Given the description of an element on the screen output the (x, y) to click on. 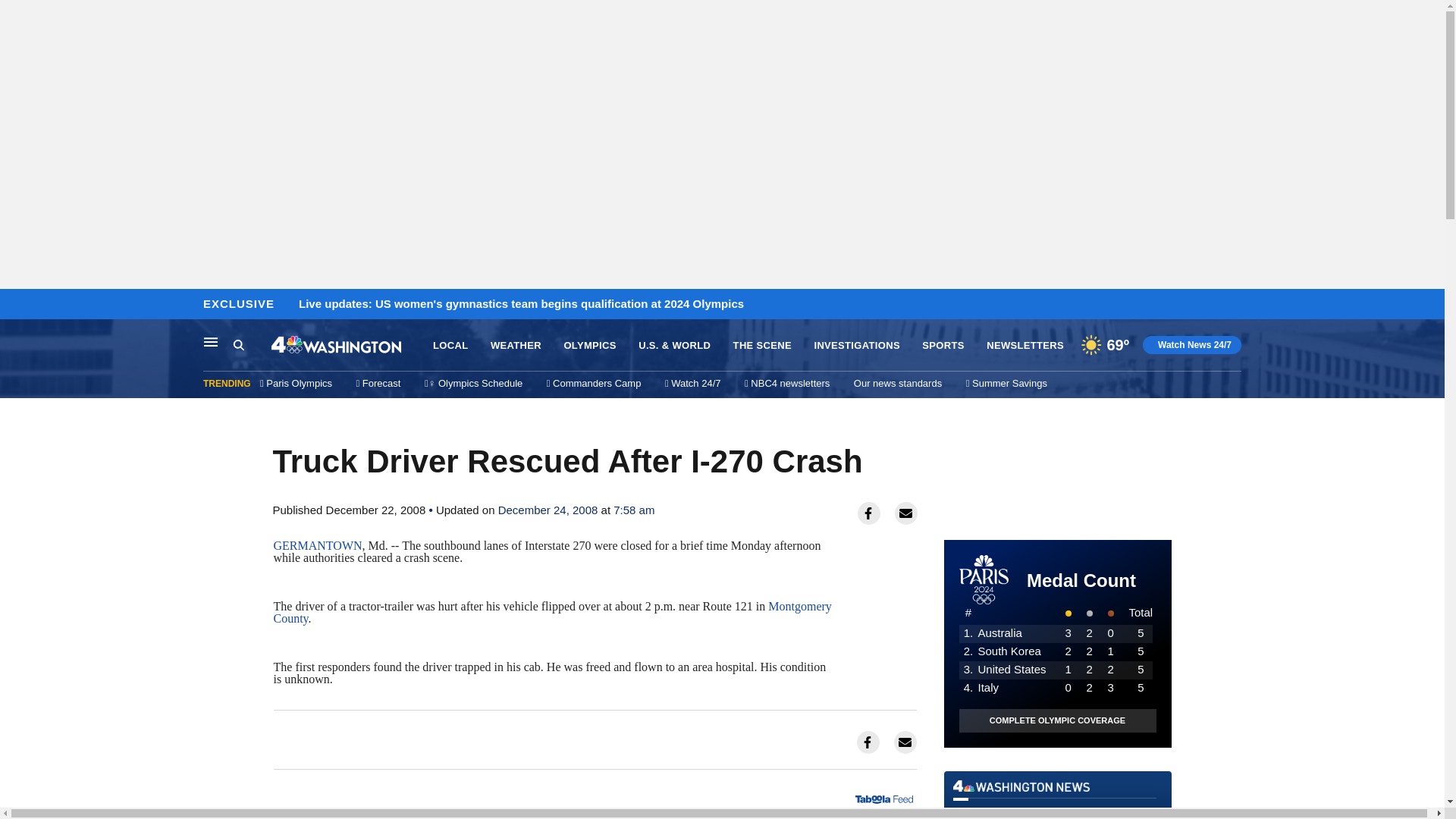
OLYMPICS (589, 345)
WEATHER (515, 345)
Montgomery County (552, 611)
Skip to content (16, 304)
INVESTIGATIONS (856, 345)
NEWSLETTERS (1025, 345)
THE SCENE (762, 345)
Search (252, 345)
GERMANTOWN (317, 545)
Search (238, 344)
Germantown (317, 545)
Main Navigation (210, 341)
